Given the description of an element on the screen output the (x, y) to click on. 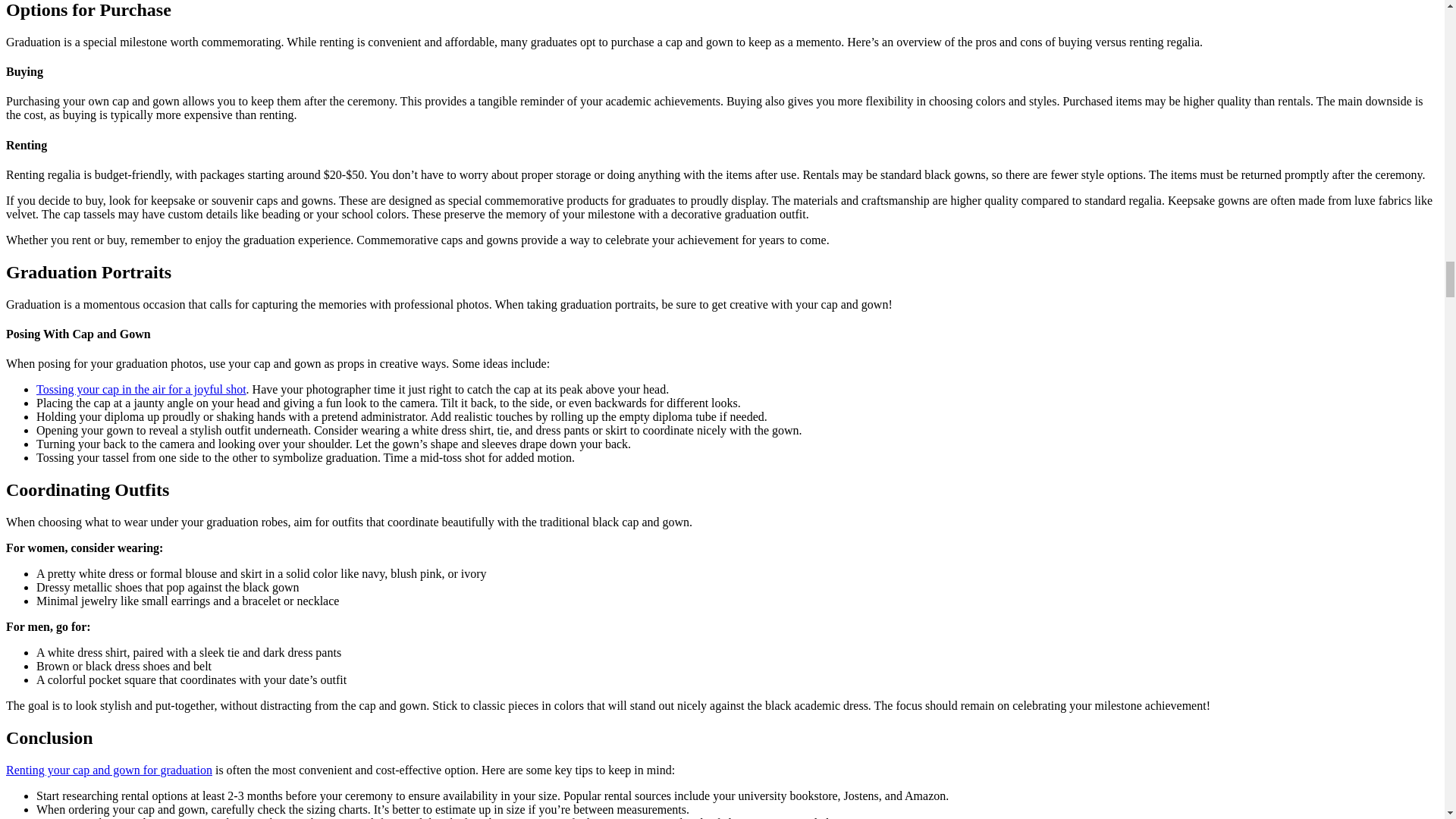
Renting your cap and gown for graduation (108, 769)
Tossing your cap in the air for a joyful shot (141, 389)
